Given the description of an element on the screen output the (x, y) to click on. 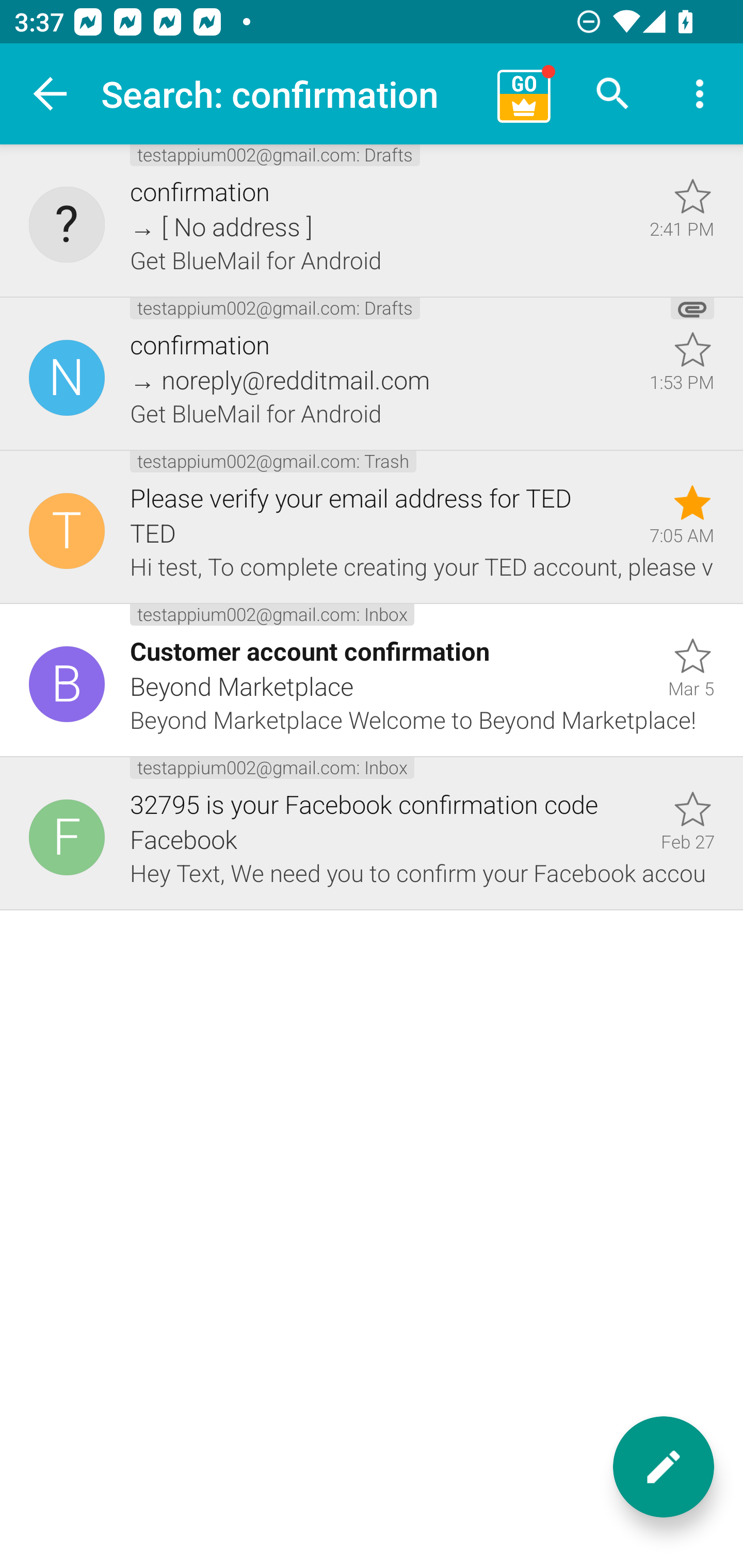
Navigate up (50, 93)
Search (612, 93)
More options (699, 93)
New message (663, 1466)
